Given the description of an element on the screen output the (x, y) to click on. 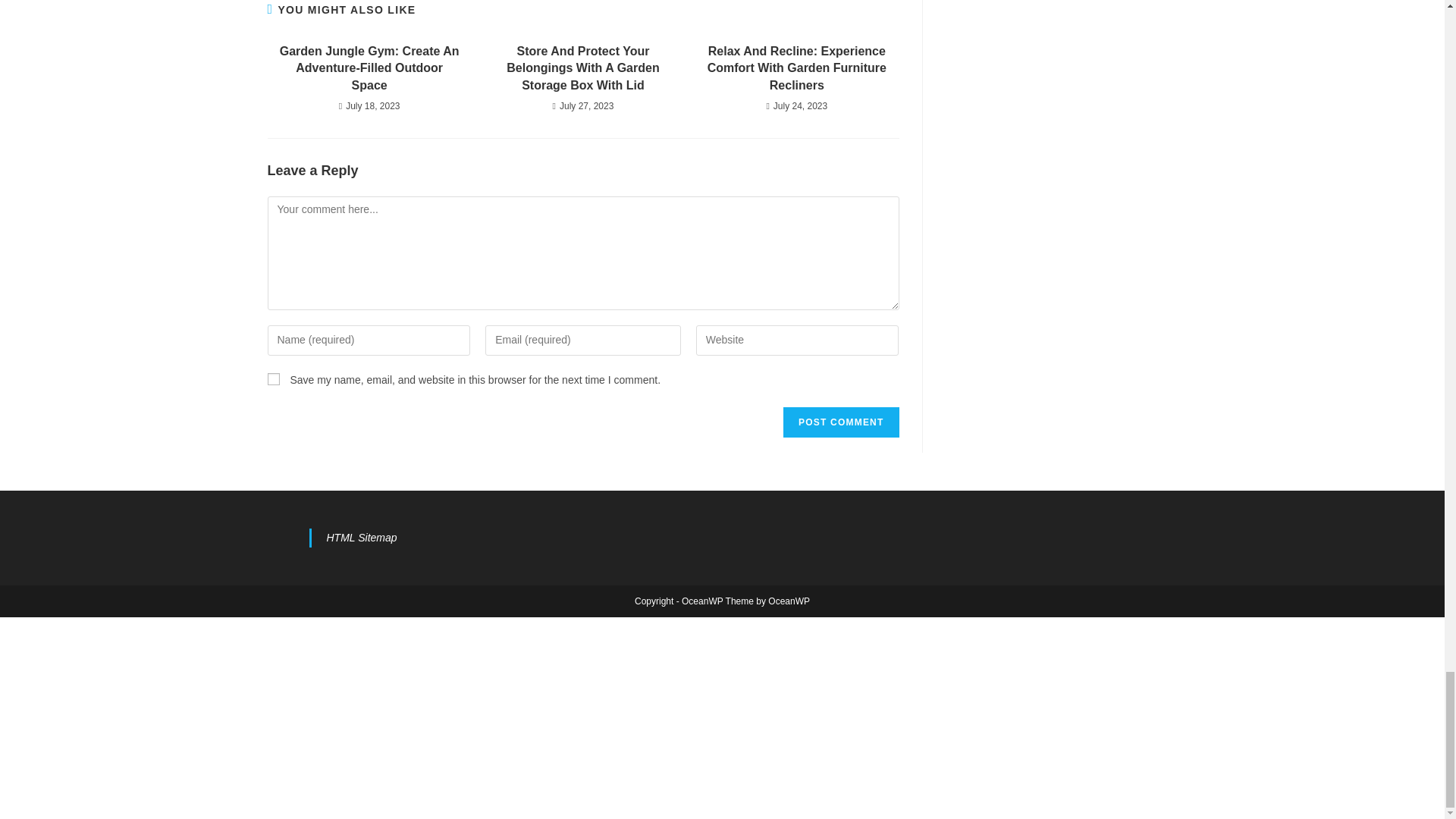
Post Comment (840, 422)
yes (272, 378)
Garden Jungle Gym: Create An Adventure-Filled Outdoor Space (368, 68)
Post Comment (840, 422)
